Given the description of an element on the screen output the (x, y) to click on. 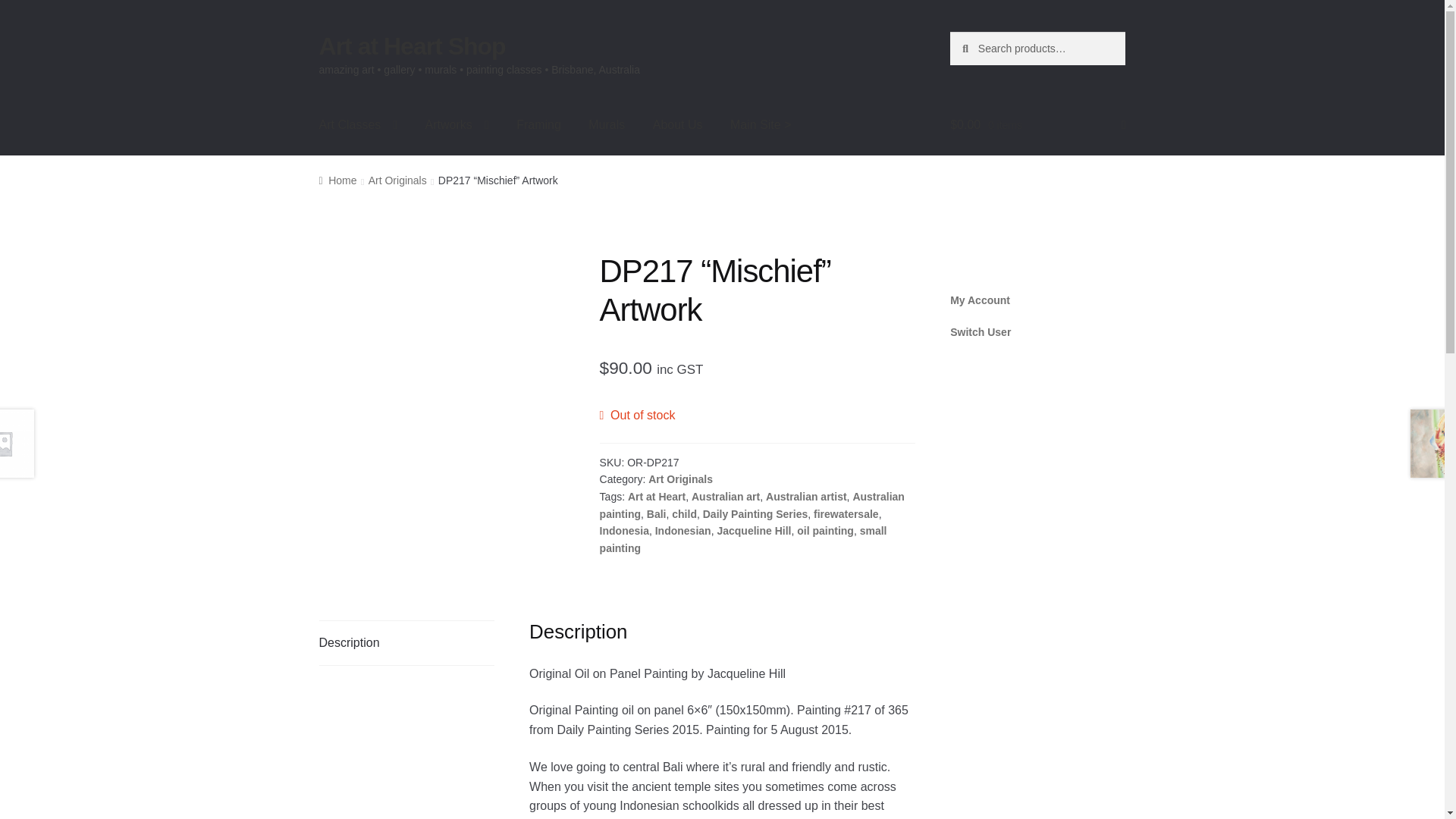
Art Originals (397, 180)
About Us (677, 124)
Art at Heart Shop (411, 45)
Art at Heart (656, 496)
View your shopping cart (1037, 124)
Framing (538, 124)
Art Classes (358, 124)
Australian art (725, 496)
Art Originals (680, 479)
